Given the description of an element on the screen output the (x, y) to click on. 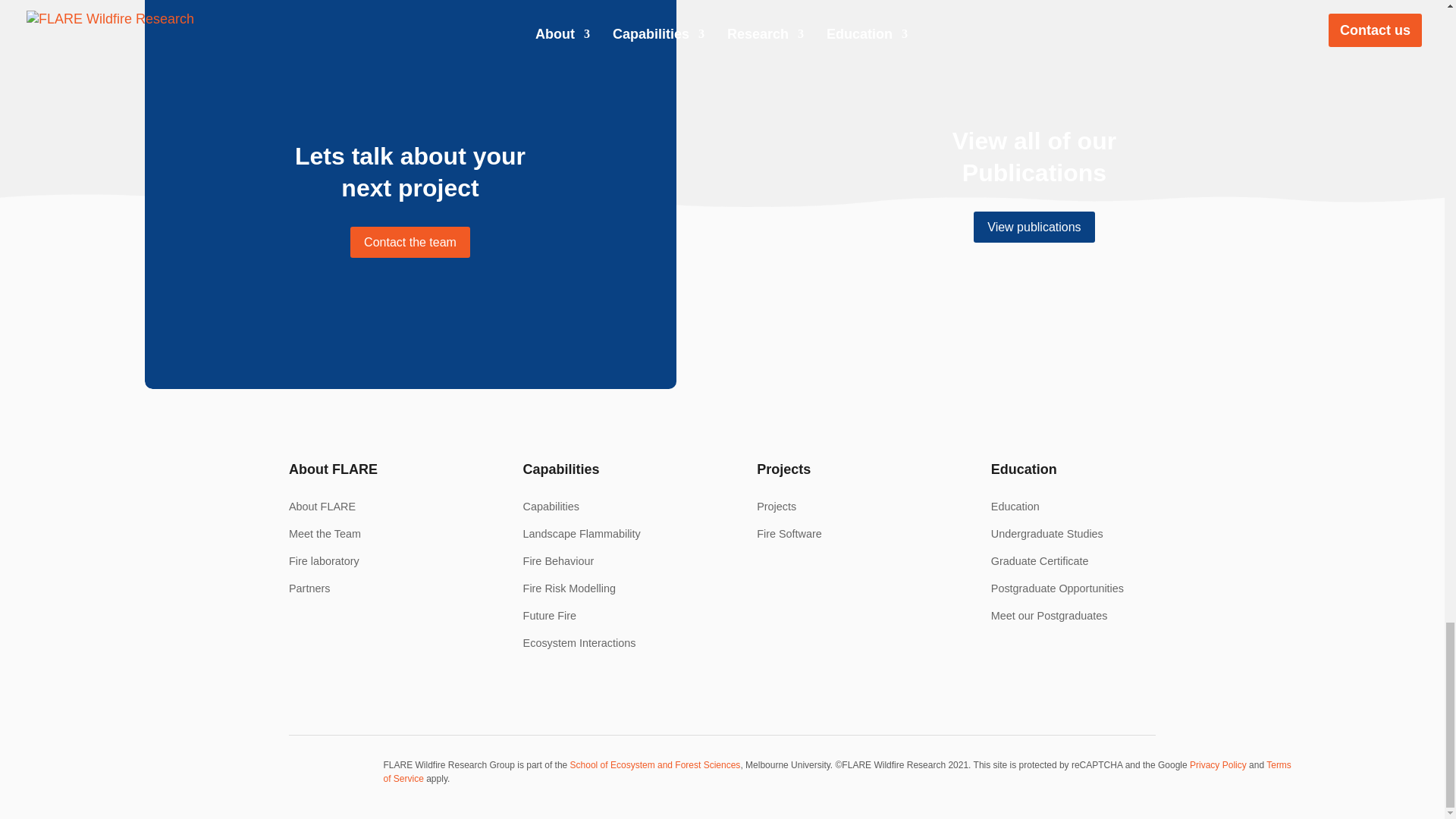
View publications (1034, 226)
Fire Behaviour (558, 561)
About FLARE (321, 506)
Fire laboratory (323, 561)
the-university-of-melbourne-landscape (257, 777)
Contact the team (410, 241)
Meet the Team (324, 533)
Partners (309, 588)
Fire Risk Modelling (568, 588)
Landscape Flammability (581, 533)
Capabilities (550, 506)
